Given the description of an element on the screen output the (x, y) to click on. 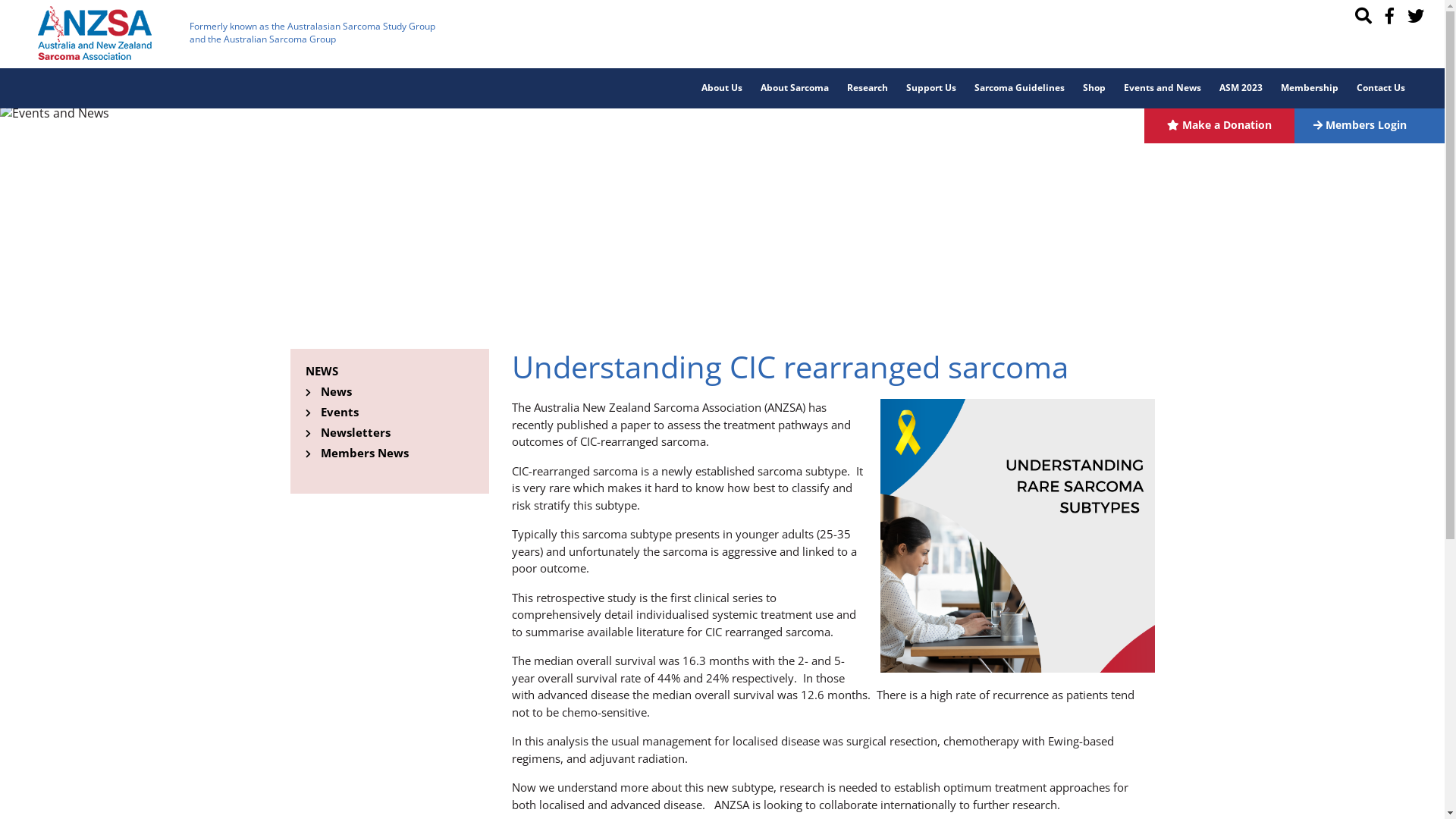
Events and News Element type: text (1162, 88)
Australia and New Zealand Sarcoma Association Element type: hover (94, 31)
Support Us Element type: text (931, 88)
About Sarcoma Element type: text (794, 88)
About Us Element type: text (721, 88)
Events Element type: text (338, 411)
Members News Element type: text (363, 452)
Members Login Element type: text (1369, 124)
Australia and New Zealand Sarcoma Association Element type: hover (94, 32)
Newsletters Element type: text (354, 431)
Sarcoma Guidelines Element type: text (1019, 88)
ASM 2023 Element type: text (1240, 88)
Contact Us Element type: text (1380, 88)
Membership Element type: text (1309, 88)
News Element type: text (335, 390)
Research Element type: text (867, 88)
Make a Donation Element type: text (1219, 124)
Shop Element type: text (1093, 88)
